Given the description of an element on the screen output the (x, y) to click on. 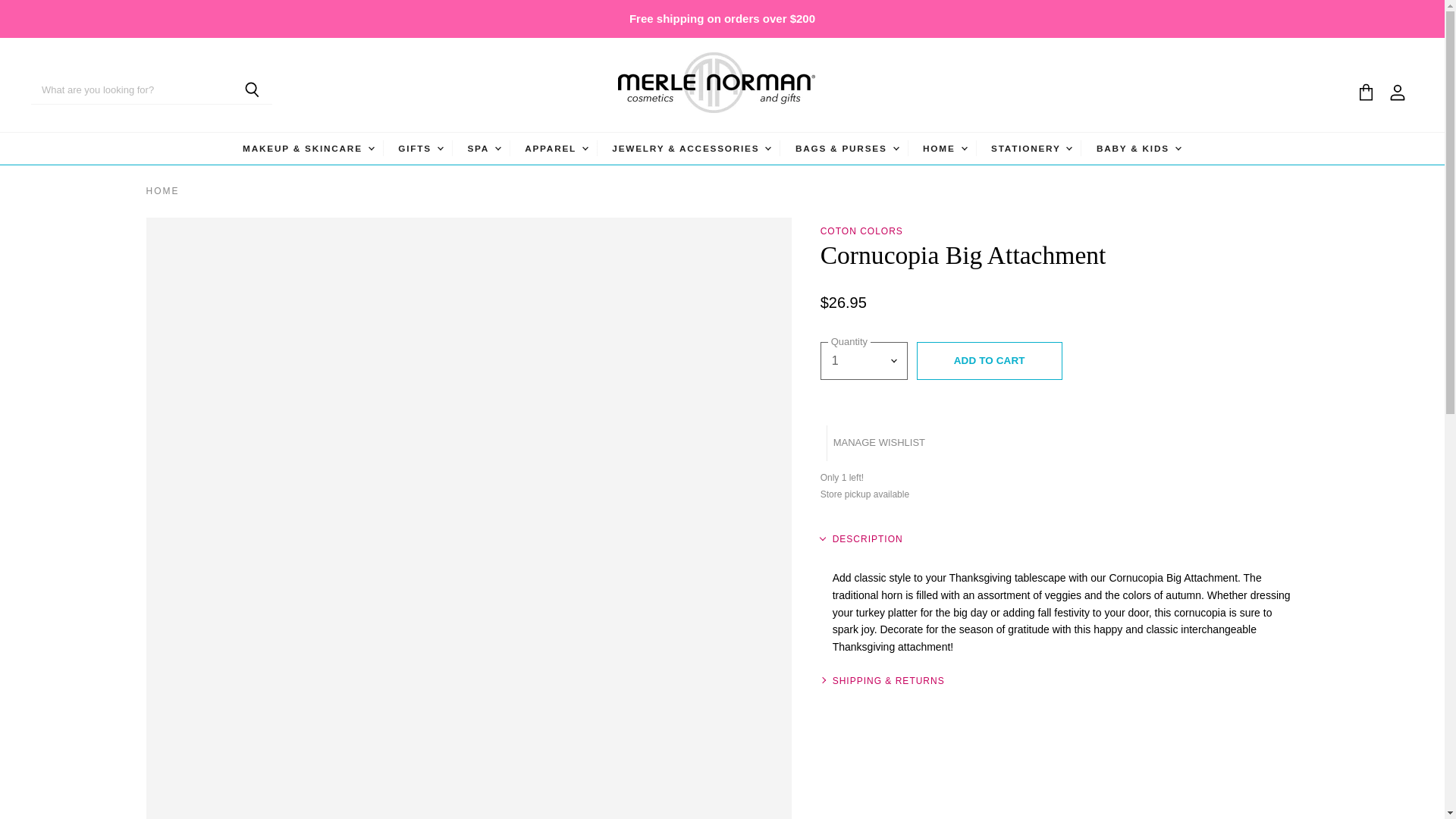
View account (1396, 93)
Coton Colors (861, 231)
GIFTS (419, 147)
